Given the description of an element on the screen output the (x, y) to click on. 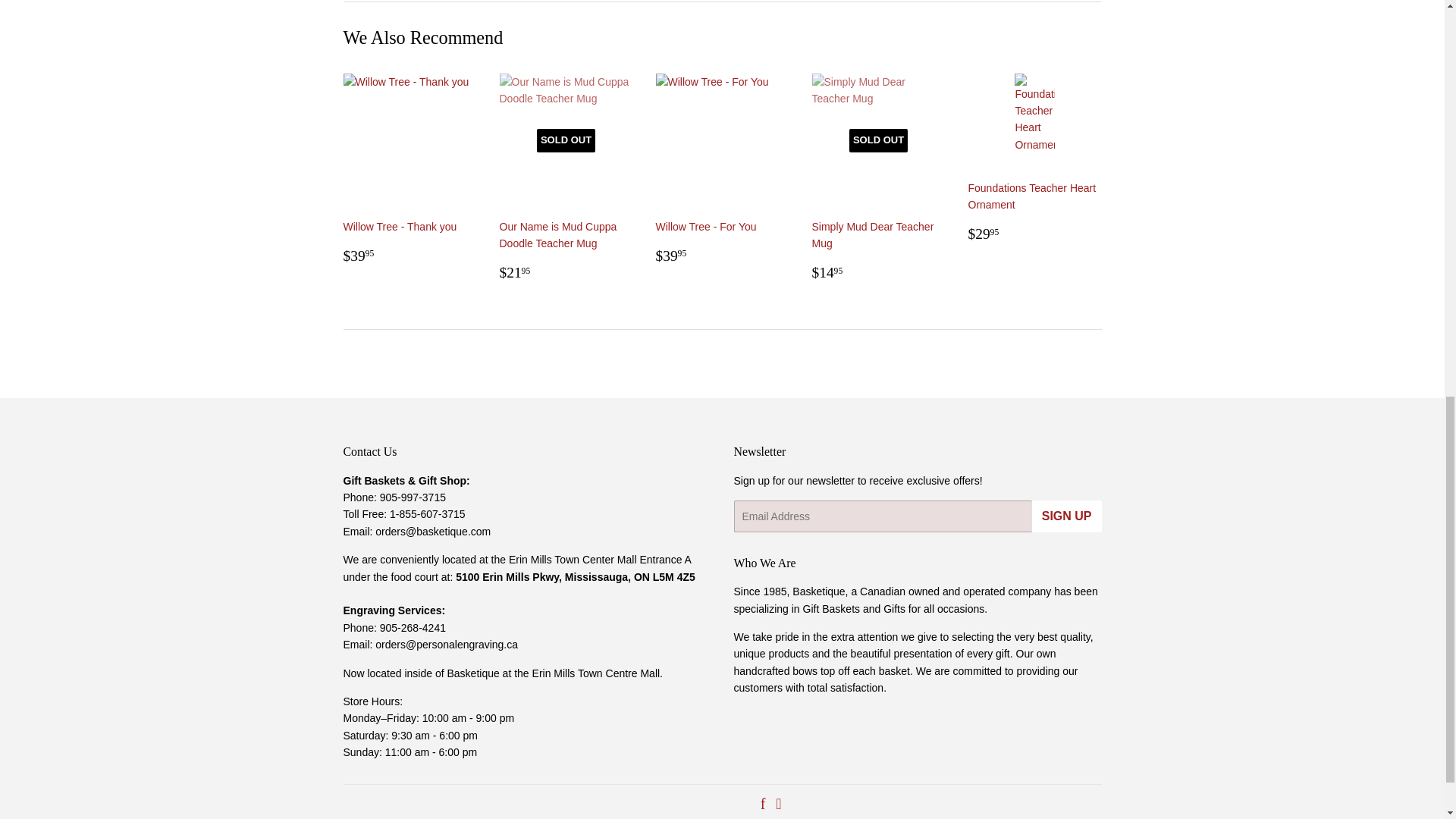
Basketique on Instagram (778, 805)
Basketique on Facebook (762, 805)
